Given the description of an element on the screen output the (x, y) to click on. 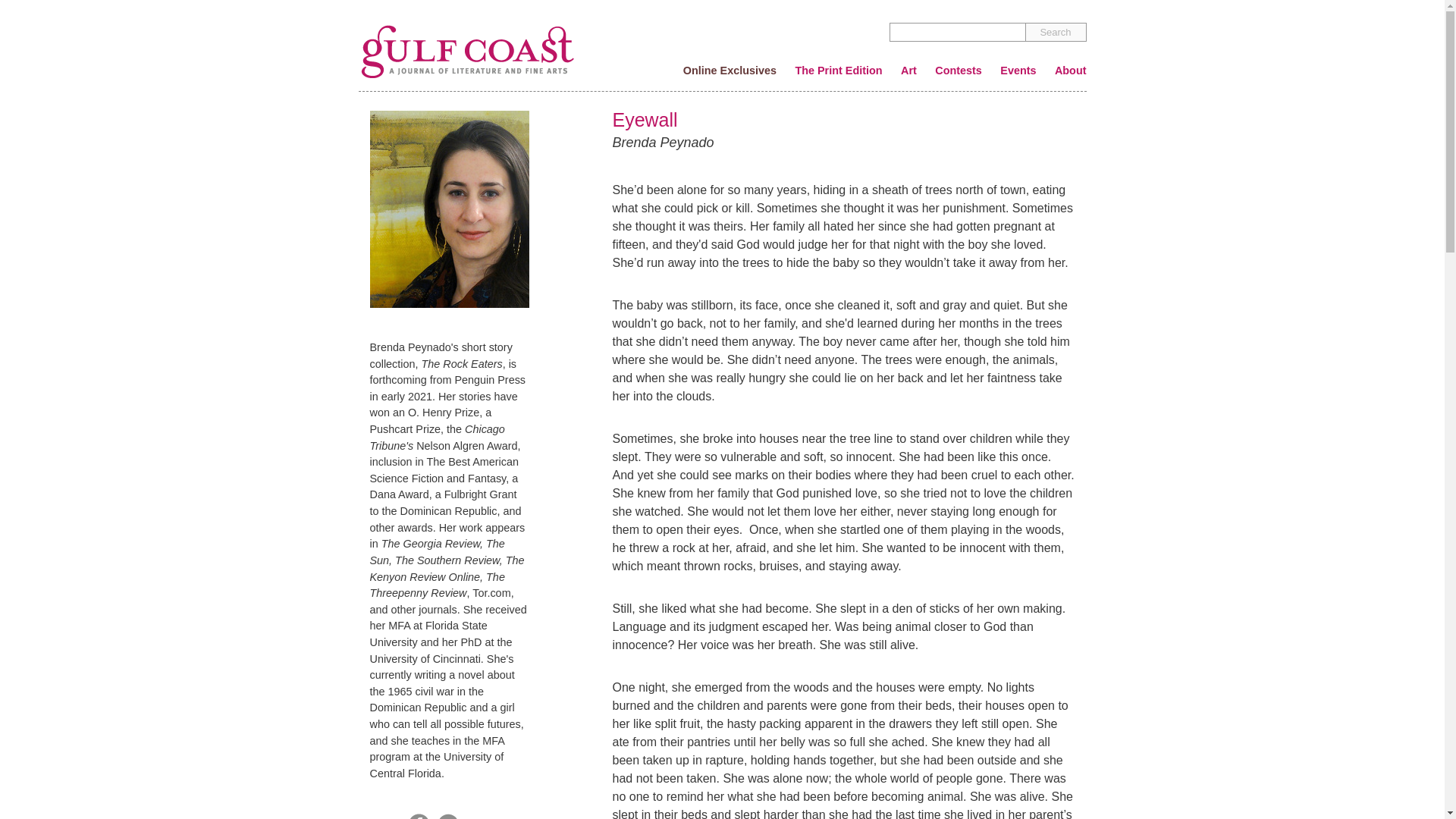
Search (1055, 31)
Search (1055, 31)
